Given the description of an element on the screen output the (x, y) to click on. 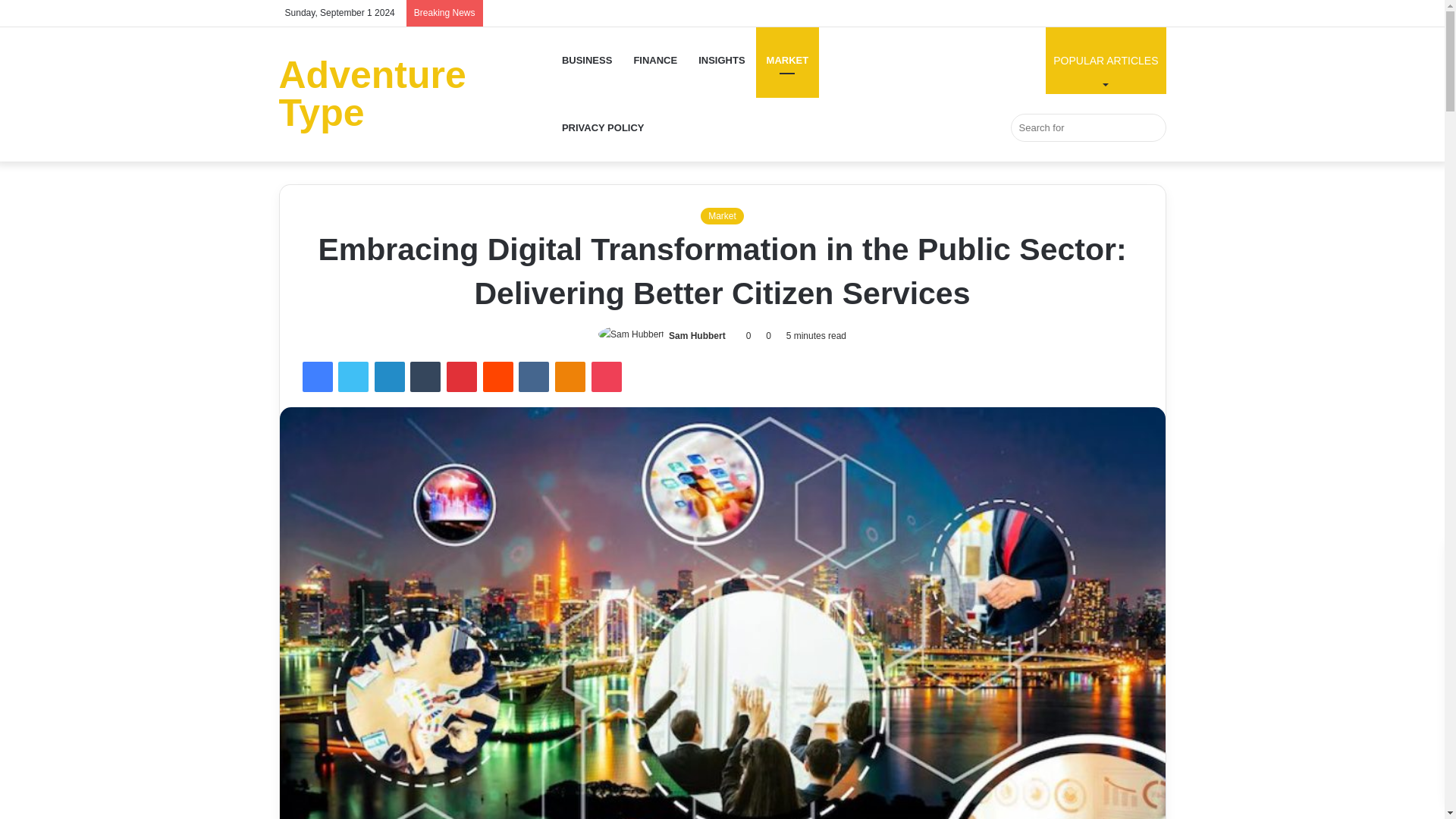
Reddit (498, 376)
Tumblr (1105, 60)
Search for (425, 376)
Adventure Type (1088, 127)
Sam Hubbert (415, 93)
BUSINESS (696, 335)
Pinterest (587, 60)
Twitter (461, 376)
INSIGHTS (352, 376)
